Given the description of an element on the screen output the (x, y) to click on. 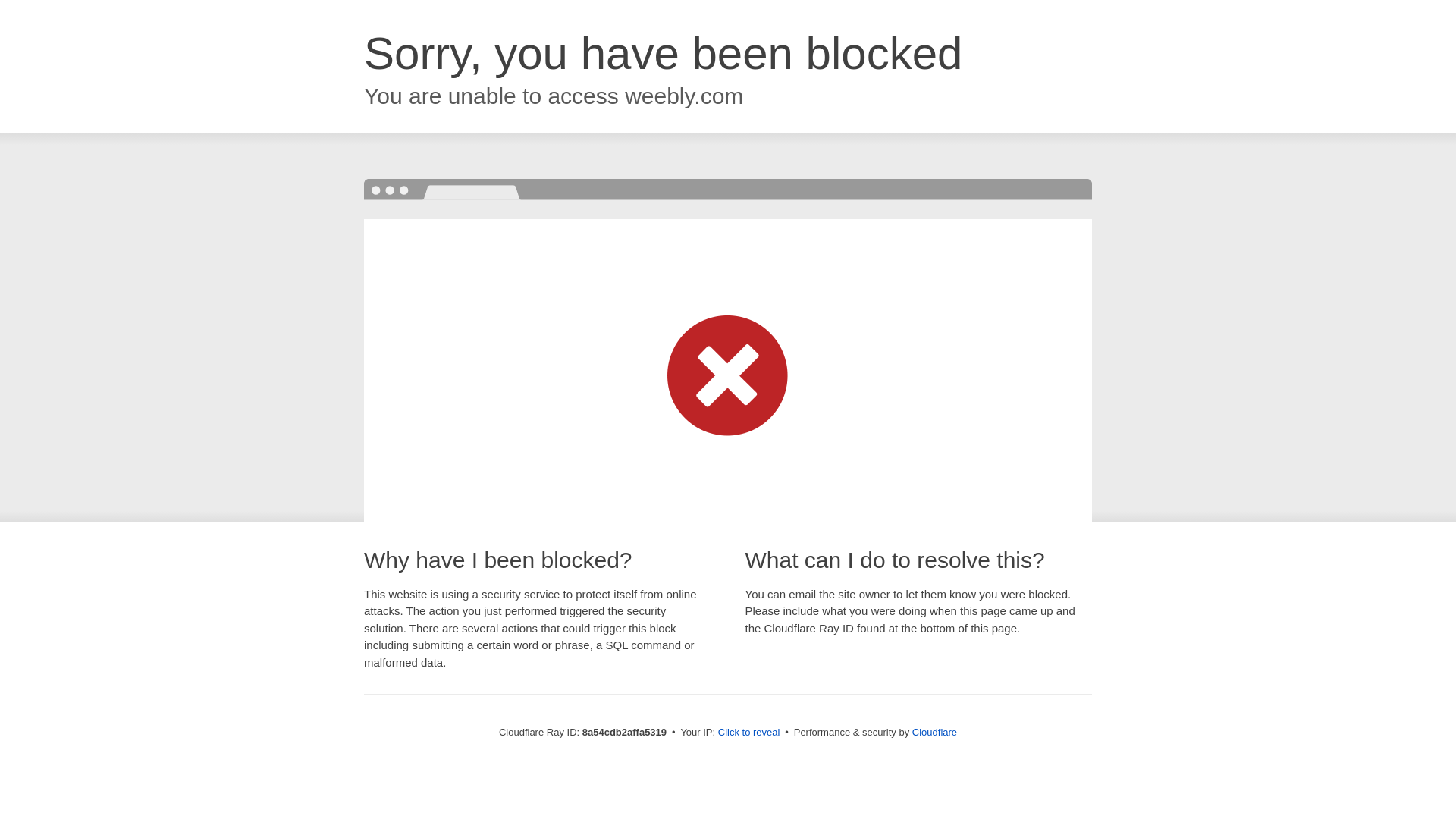
Click to reveal (748, 732)
Cloudflare (934, 731)
